Given the description of an element on the screen output the (x, y) to click on. 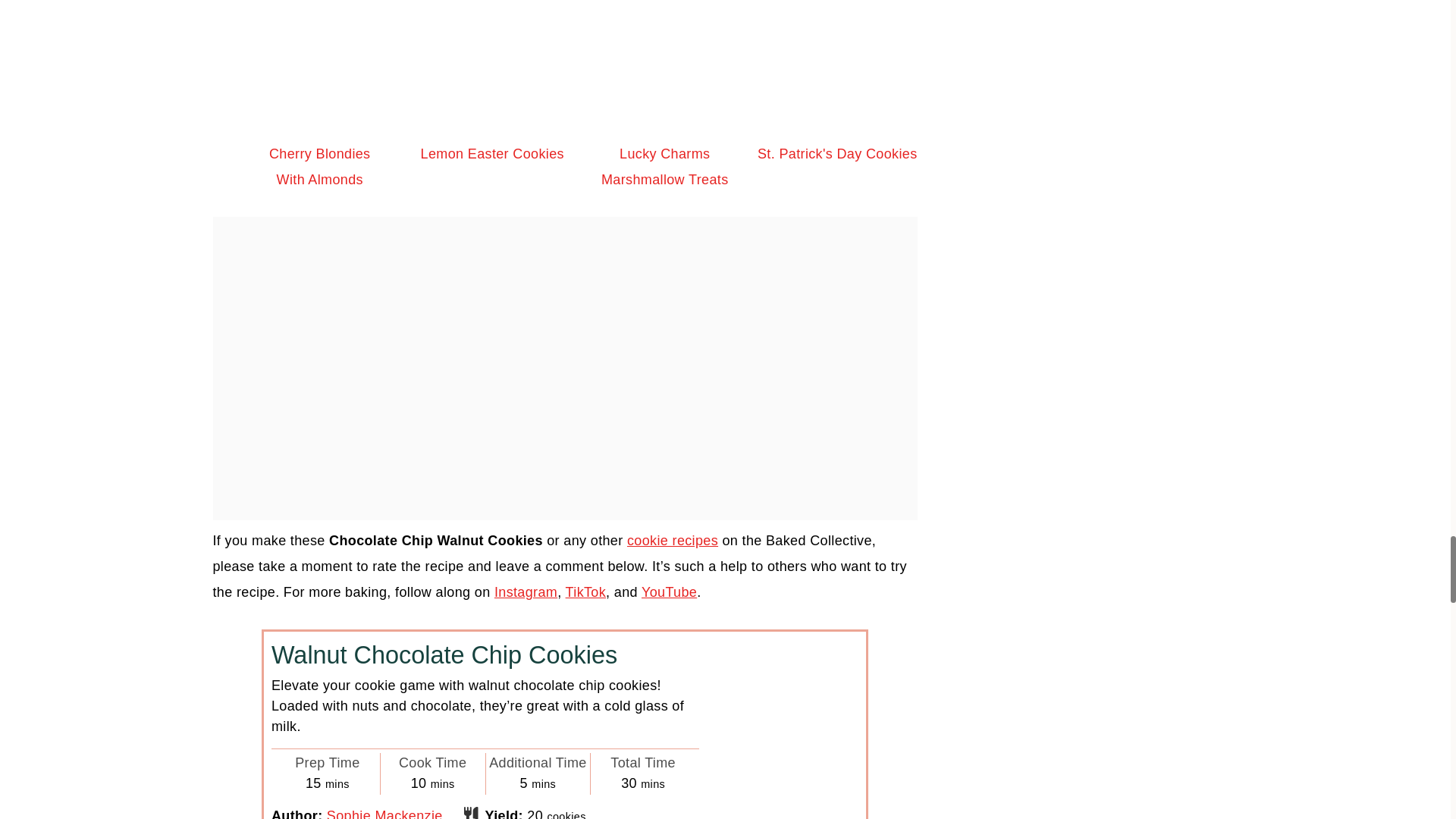
St. Patrick's Day Cookies (837, 96)
Lemon Easter Cookies (492, 96)
Cherry Blondies With Almonds (319, 96)
Lucky Charms Marshmallow Treats (665, 96)
cookie recipes (672, 540)
TikTok (586, 591)
Instagram (526, 591)
